Given the description of an element on the screen output the (x, y) to click on. 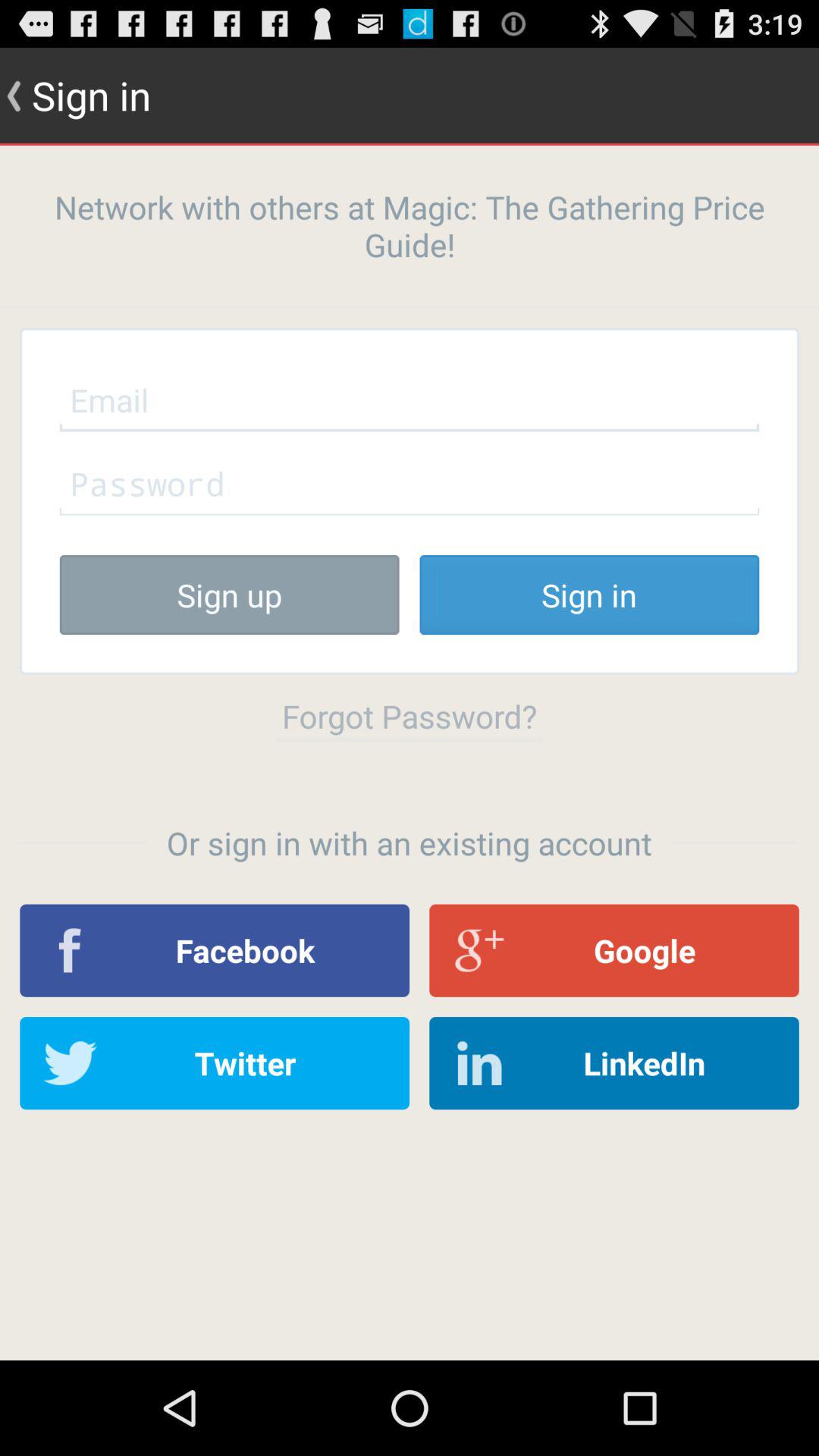
choose the item above linkedin item (614, 950)
